Given the description of an element on the screen output the (x, y) to click on. 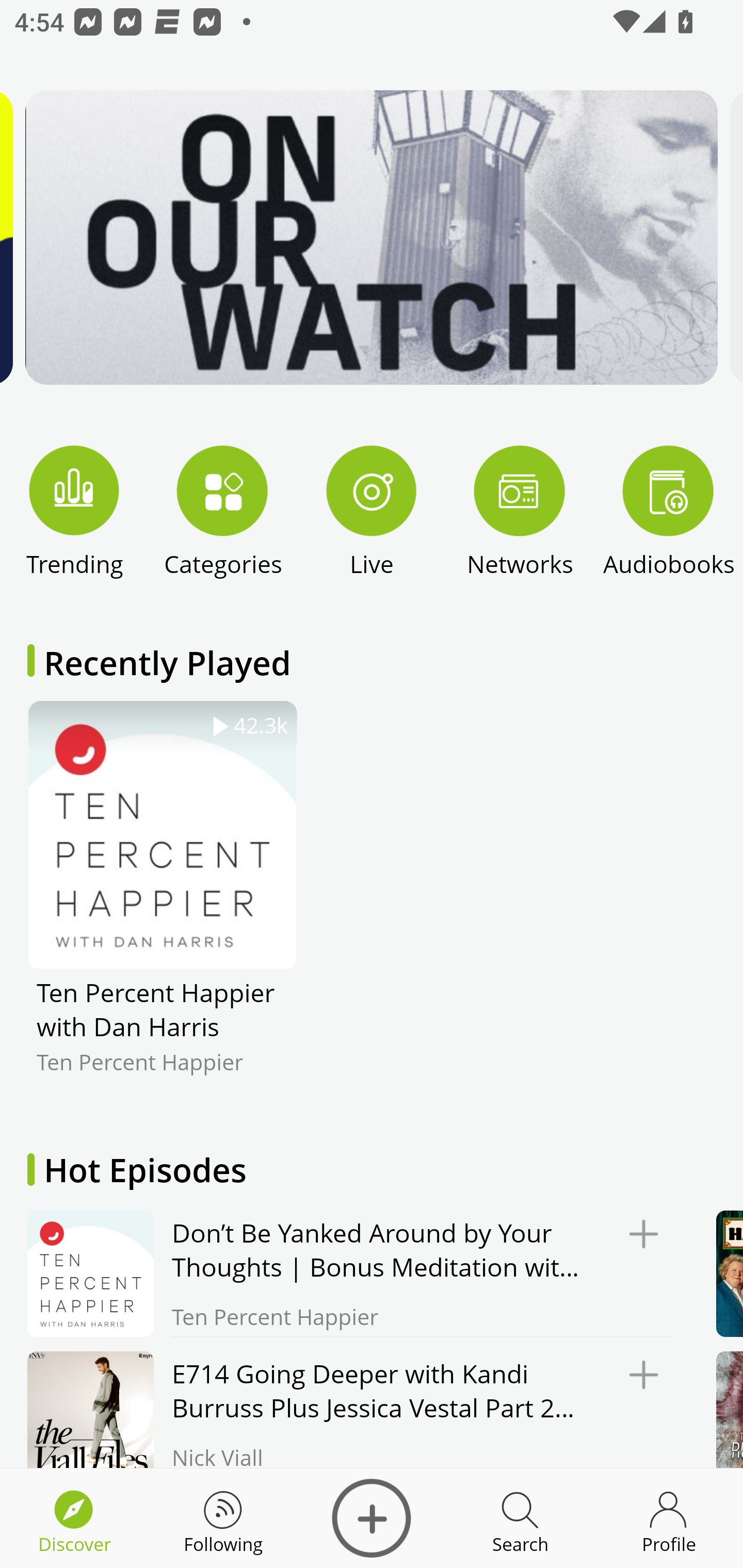
Discover Following (222, 1518)
Discover (371, 1518)
Discover Search (519, 1518)
Discover Profile (668, 1518)
